Given the description of an element on the screen output the (x, y) to click on. 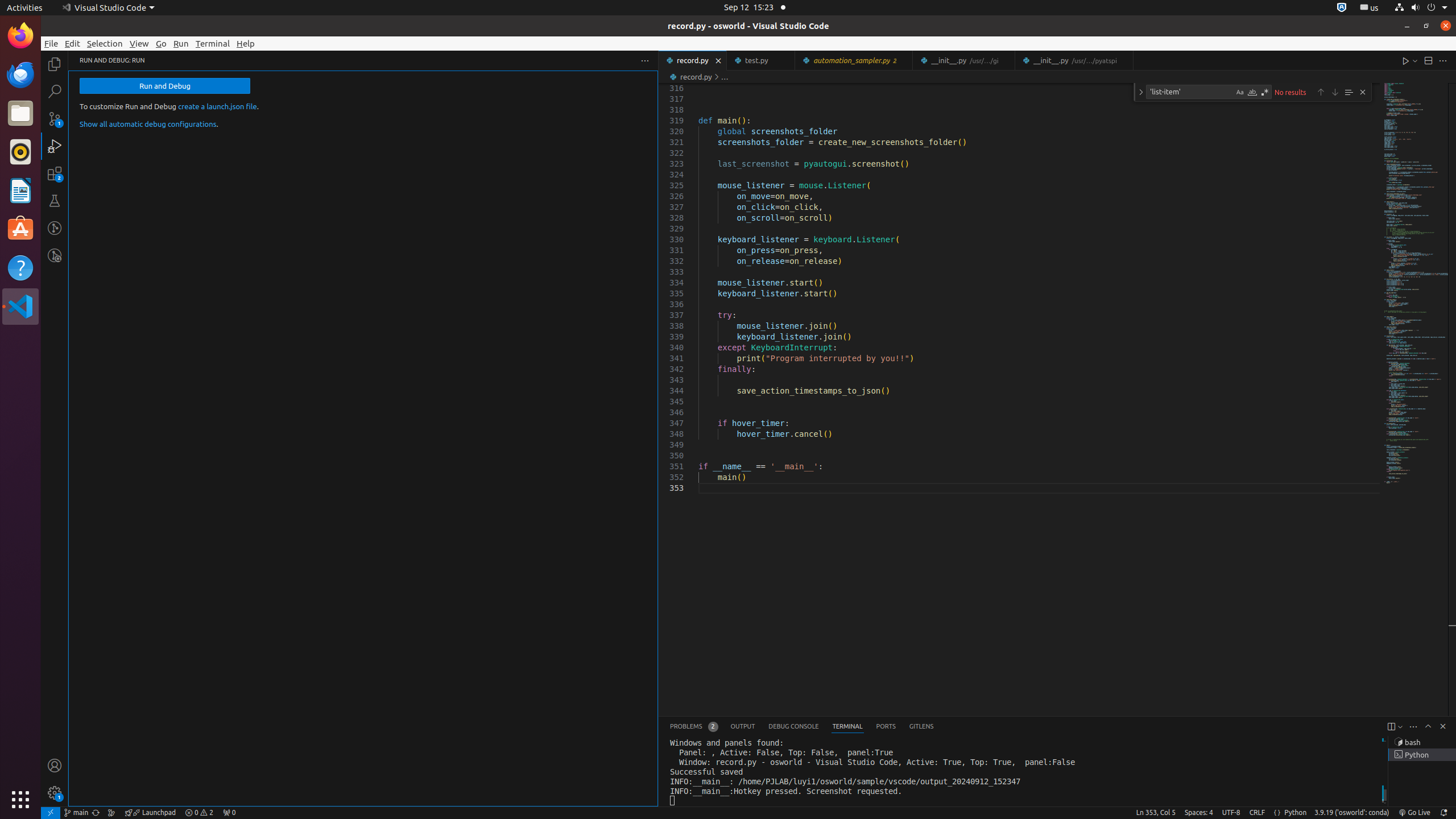
Run and Debug Element type: push-button (164, 85)
Testing Element type: page-tab (54, 200)
Selection Element type: push-button (104, 43)
